Given the description of an element on the screen output the (x, y) to click on. 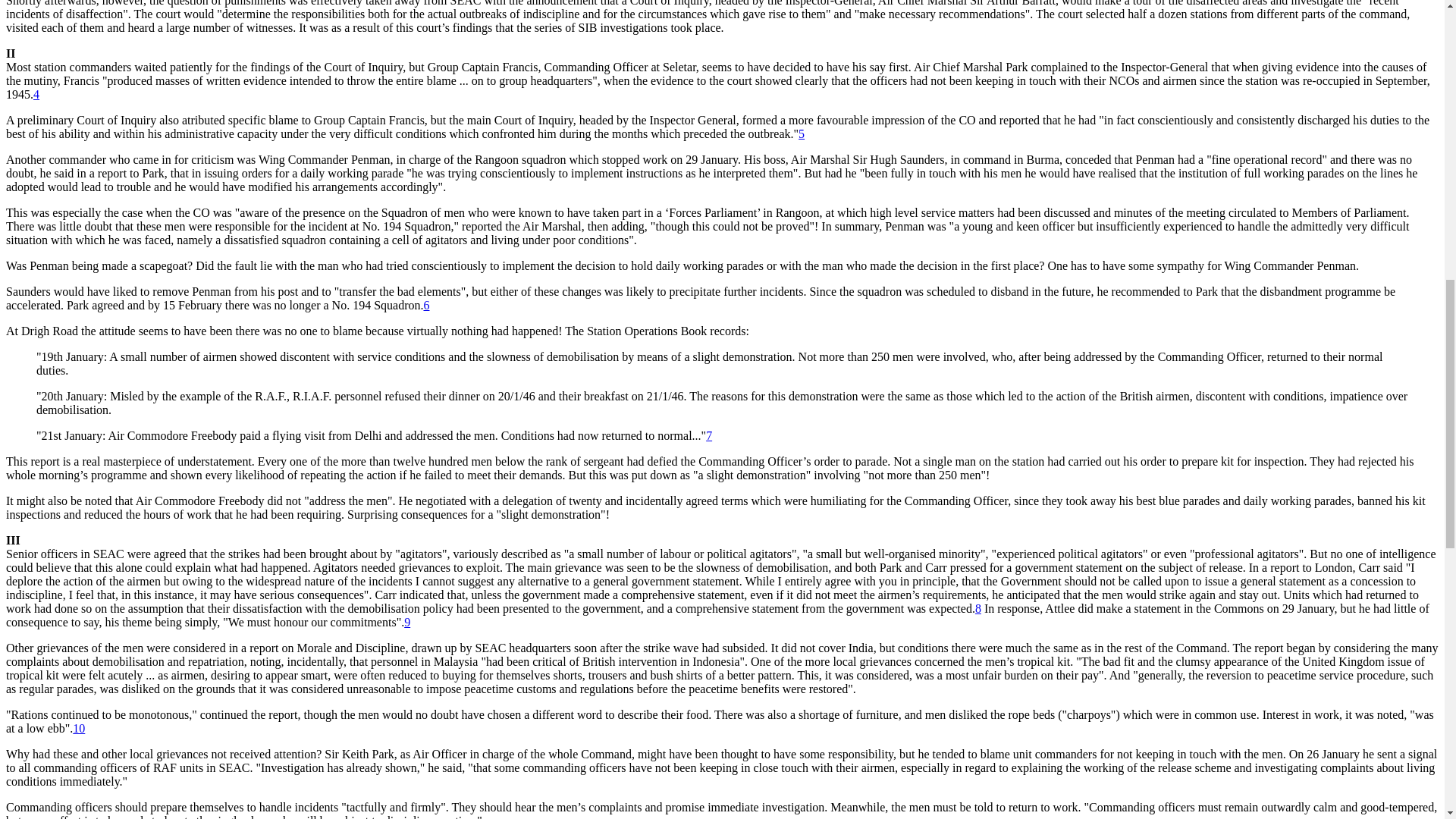
10 (78, 727)
